Given the description of an element on the screen output the (x, y) to click on. 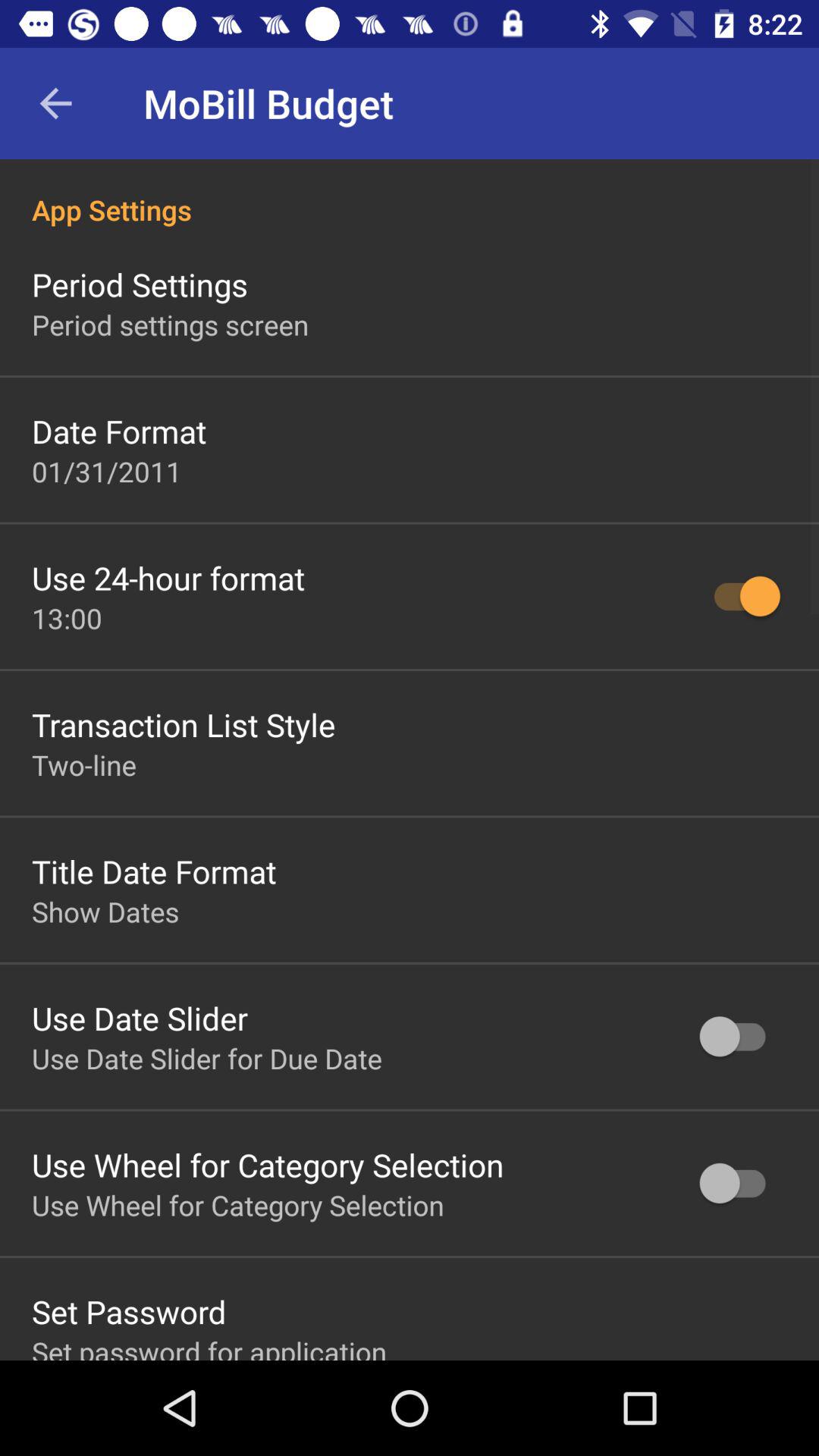
press the icon below use 24 hour item (66, 618)
